Given the description of an element on the screen output the (x, y) to click on. 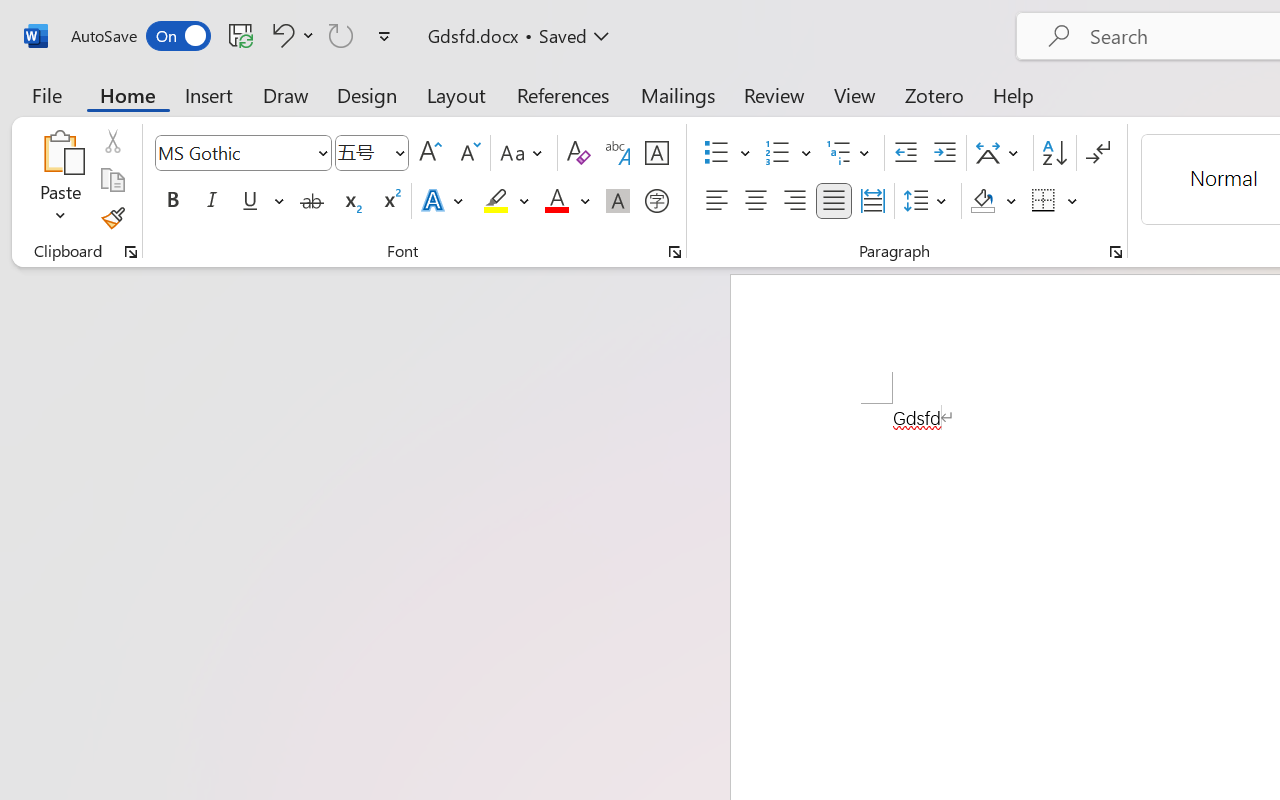
Undo Font Formatting (280, 35)
